Given the description of an element on the screen output the (x, y) to click on. 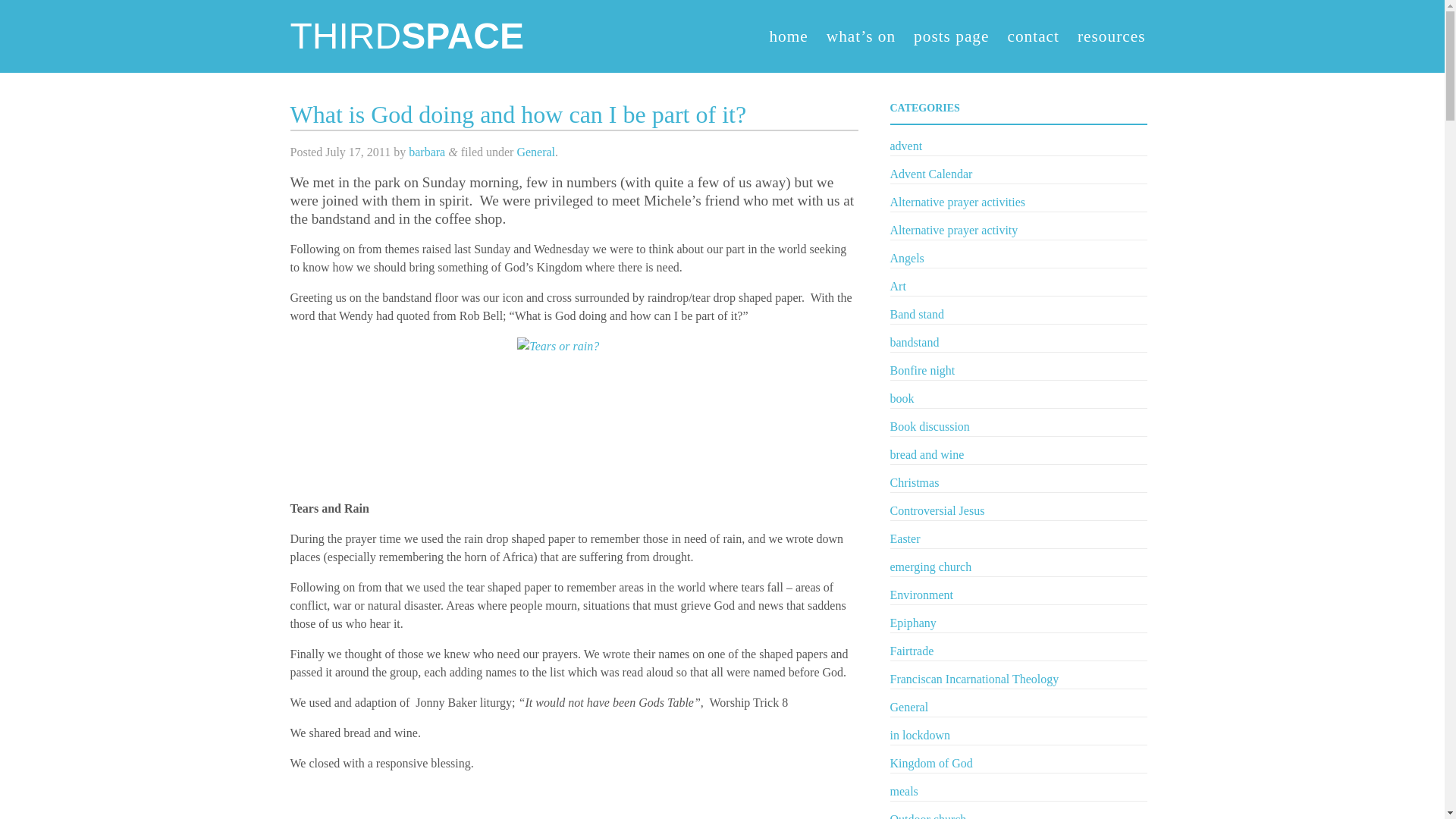
Epiphany (912, 622)
advent (906, 145)
book (901, 398)
Art (897, 286)
Christmas (914, 481)
Alternative prayer activities (957, 201)
posts page (951, 36)
Band stand (916, 314)
Alternative prayer activity (953, 229)
Fairtrade (911, 650)
emerging church (930, 566)
Bonfire night (922, 369)
What is God doing and how can I be part of it? (517, 113)
bread and wine (926, 454)
home (788, 36)
